Given the description of an element on the screen output the (x, y) to click on. 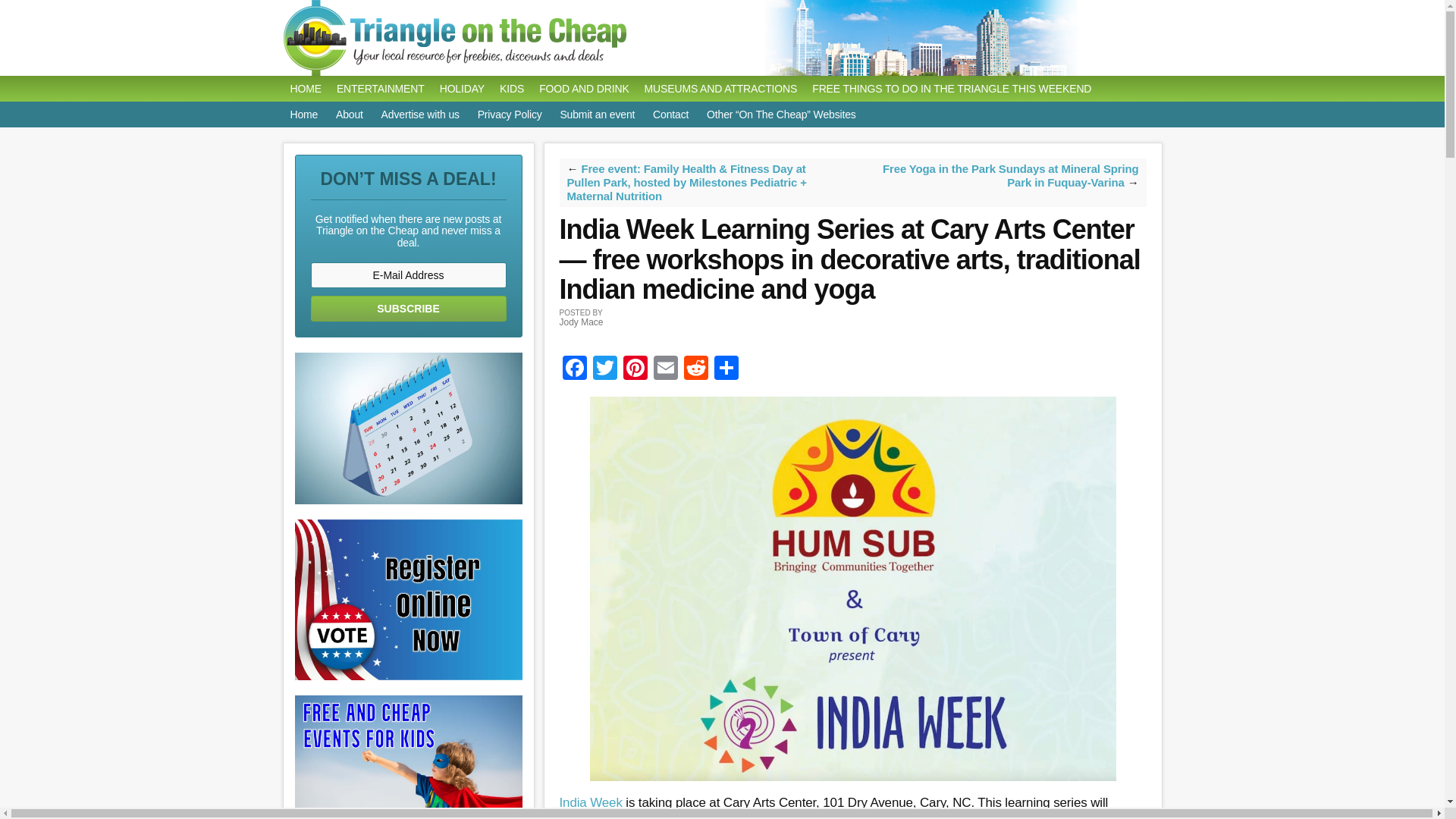
ENTERTAINMENT (380, 88)
HOME (305, 88)
HOLIDAY (462, 88)
Reddit (696, 369)
Twitter (604, 369)
About (350, 114)
Twitter (604, 369)
Privacy Policy (510, 114)
Subscribe (408, 308)
Pinterest (635, 369)
Pinterest (635, 369)
KIDS (511, 88)
Facebook (574, 369)
MUSEUMS AND ATTRACTIONS (721, 88)
